Given the description of an element on the screen output the (x, y) to click on. 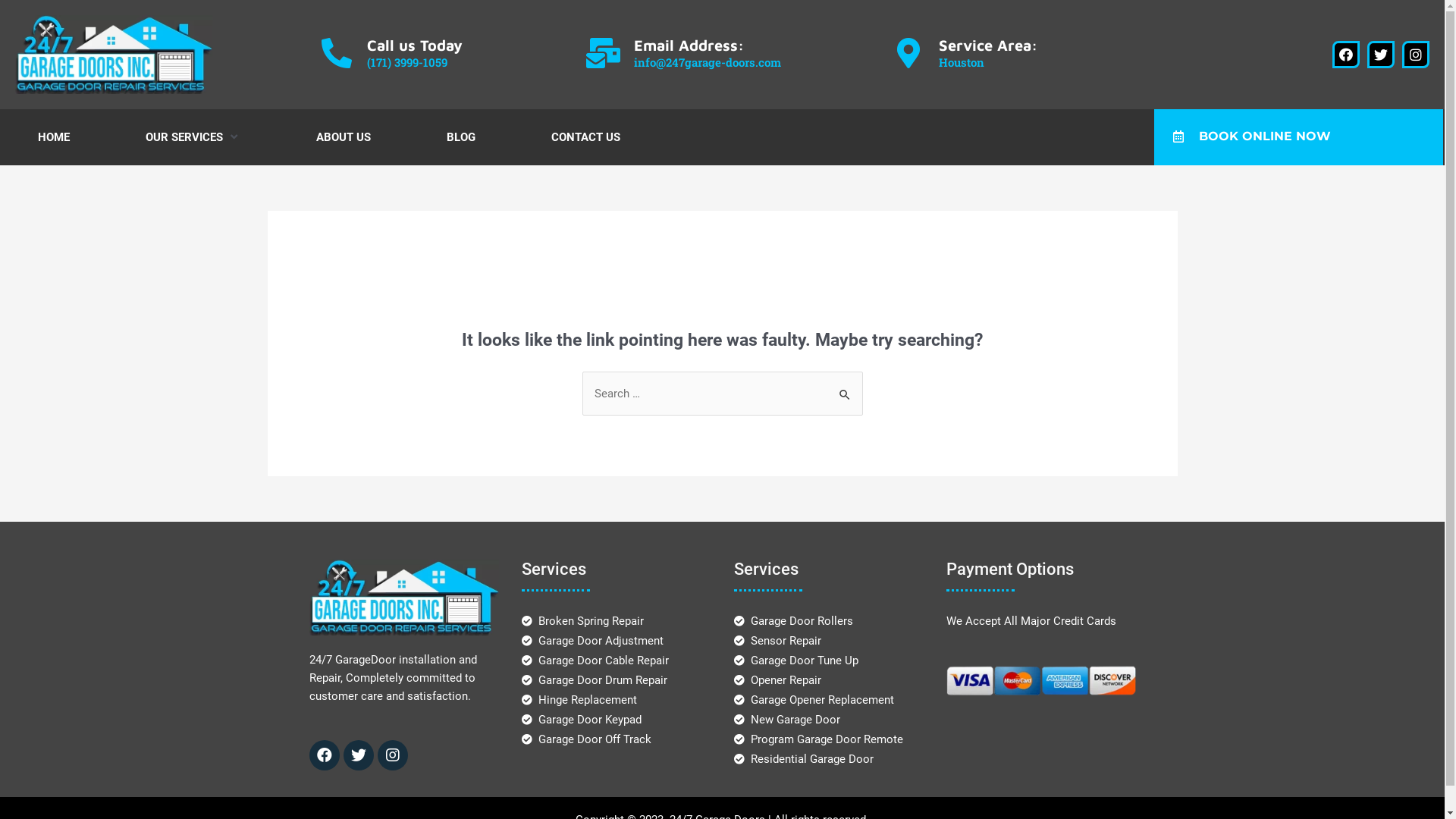
Sensor Repair Element type: text (778, 640)
Residential Garage Door Element type: text (804, 758)
ABOUT US Element type: text (343, 137)
Garage Door Keypad Element type: text (581, 719)
OUR SERVICES Element type: text (183, 137)
Garage Door Cable Repair Element type: text (595, 660)
Program Garage Door Remote Element type: text (818, 739)
Search Element type: text (845, 386)
Garage Door Rollers Element type: text (793, 620)
New Garage Door Element type: text (787, 719)
CONTACT US Element type: text (585, 137)
Broken Spring Repair Element type: text (582, 620)
Opener Repair Element type: text (778, 680)
Garage Opener Replacement Element type: text (814, 699)
Garage Door Off Track Element type: text (586, 739)
Garage Door Drum Repair Element type: text (594, 680)
Garage Door Tune Up Element type: text (796, 660)
BOOK ONLINE NOW Element type: text (1251, 136)
Garage Door Adjustment Element type: text (592, 640)
BLOG Element type: text (460, 137)
Hinge Replacement Element type: text (579, 699)
HOME Element type: text (53, 137)
